Given the description of an element on the screen output the (x, y) to click on. 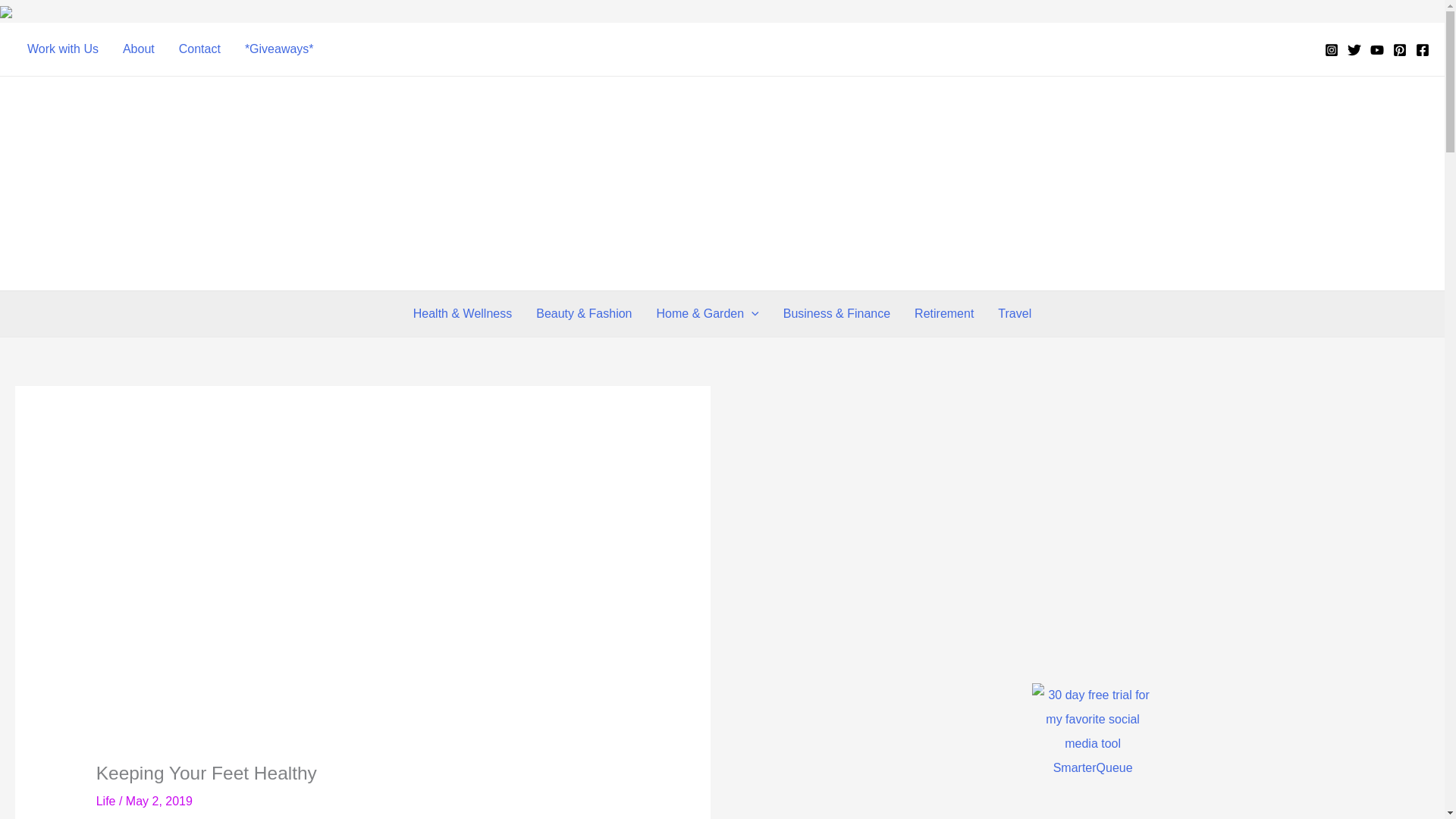
Life (106, 800)
Travel (1014, 313)
Contact (199, 48)
Work with Us (62, 48)
Retirement (943, 313)
About (138, 48)
